Given the description of an element on the screen output the (x, y) to click on. 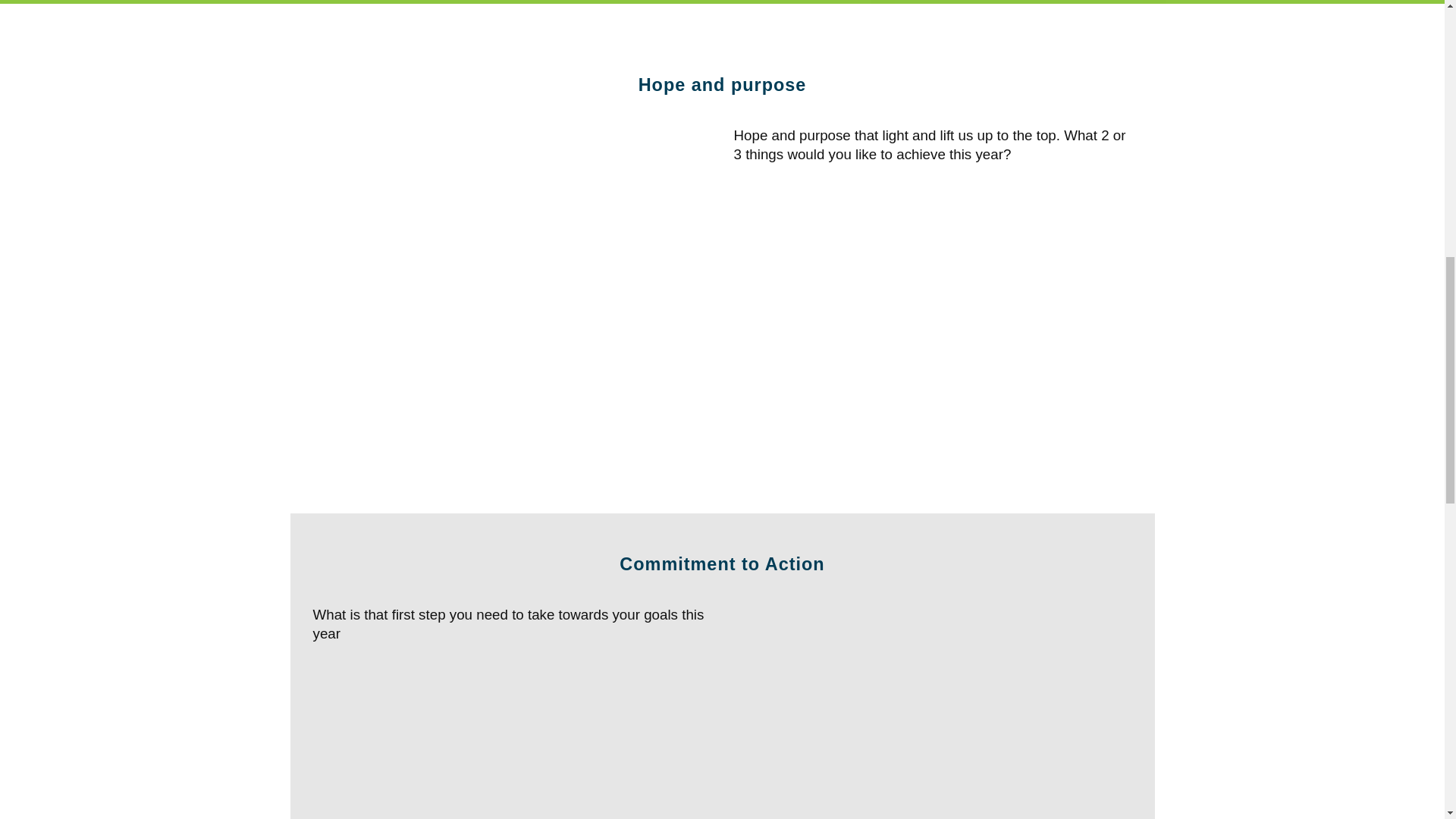
First step 2 (932, 712)
